Given the description of an element on the screen output the (x, y) to click on. 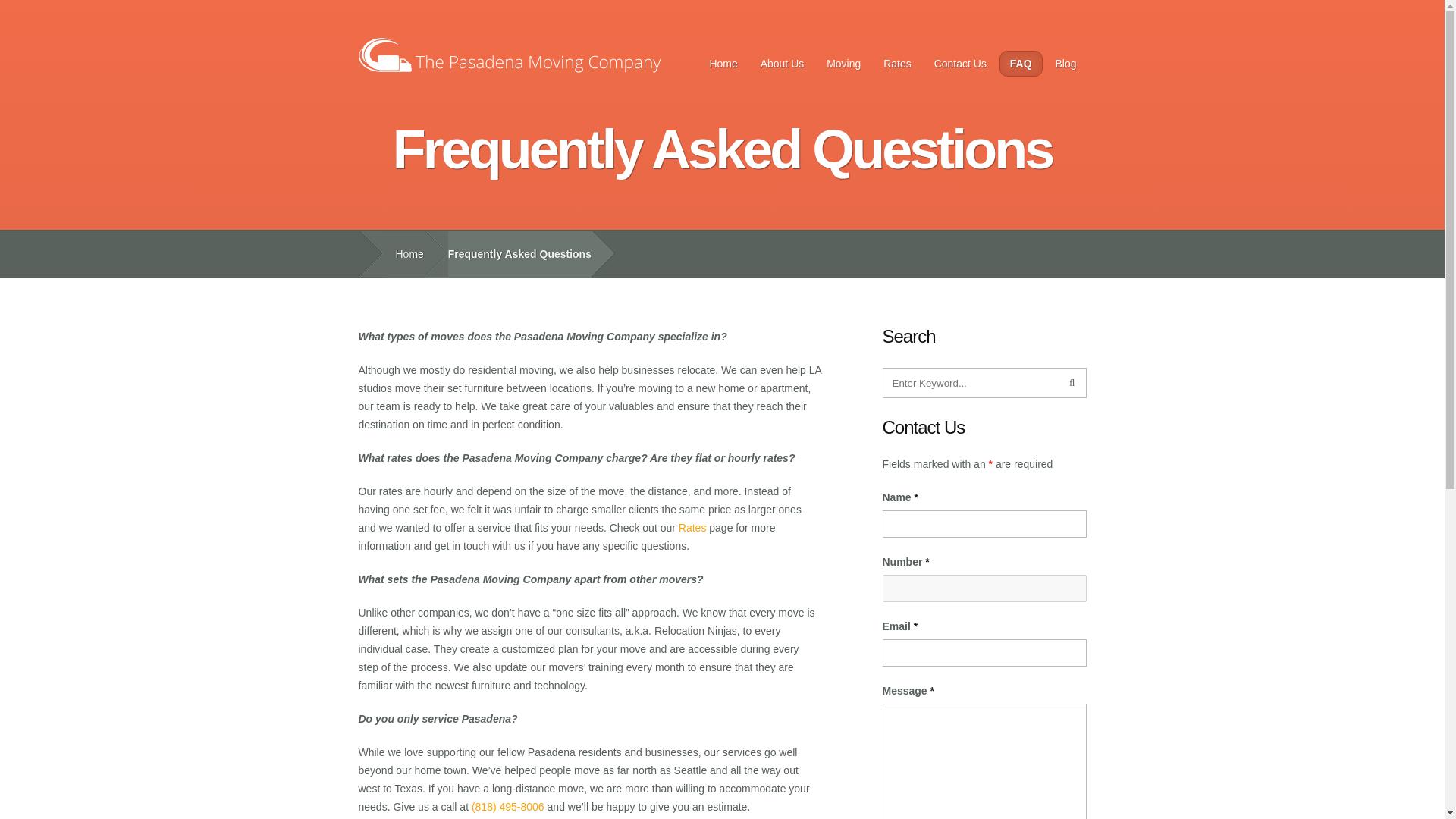
Rates (692, 527)
About Us (782, 63)
Blog (1065, 63)
Contact Us (959, 63)
Home (722, 63)
Rates (897, 63)
FAQ (1020, 63)
Moving (843, 63)
